Given the description of an element on the screen output the (x, y) to click on. 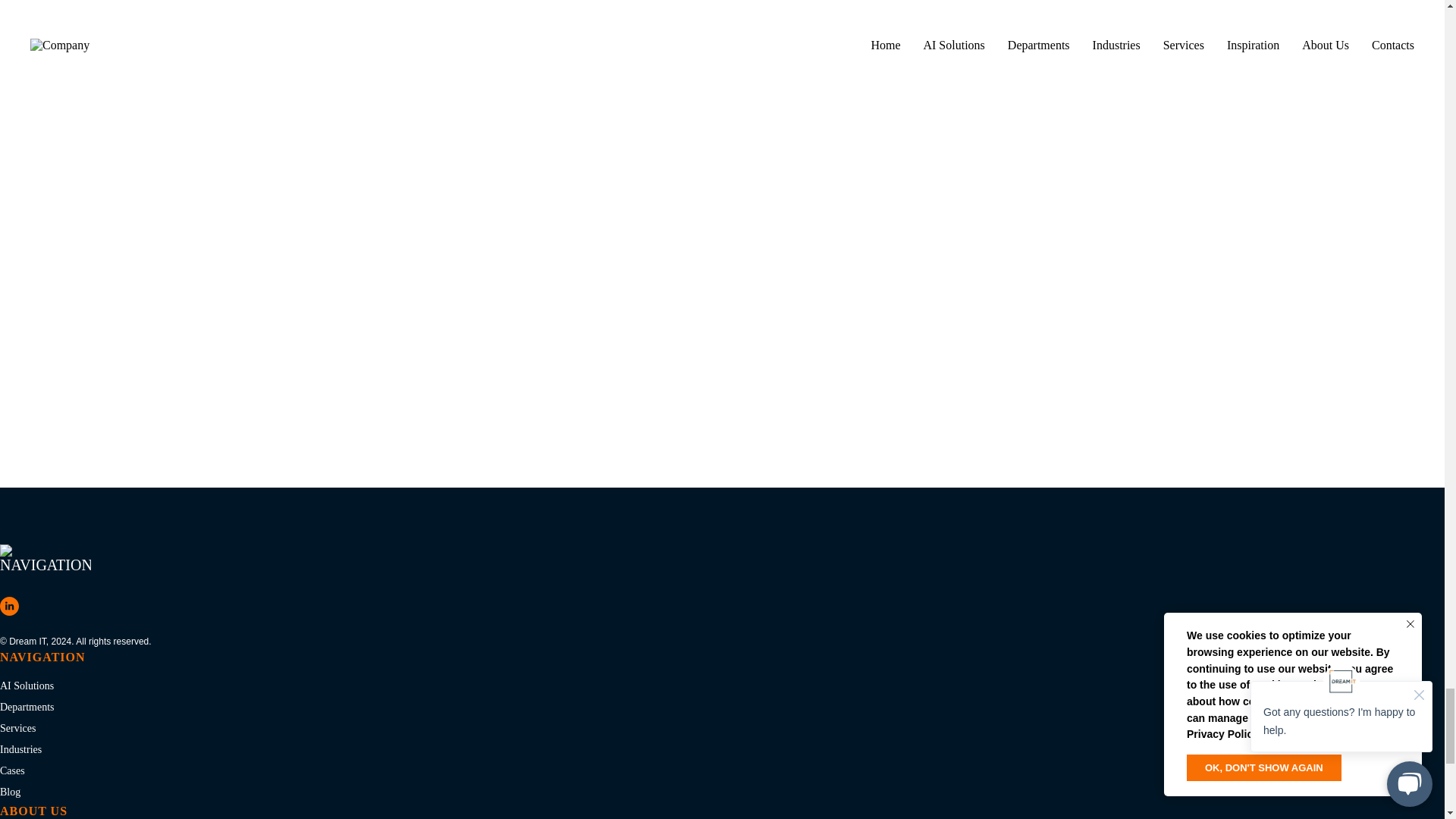
LinkedIn (9, 606)
